Given the description of an element on the screen output the (x, y) to click on. 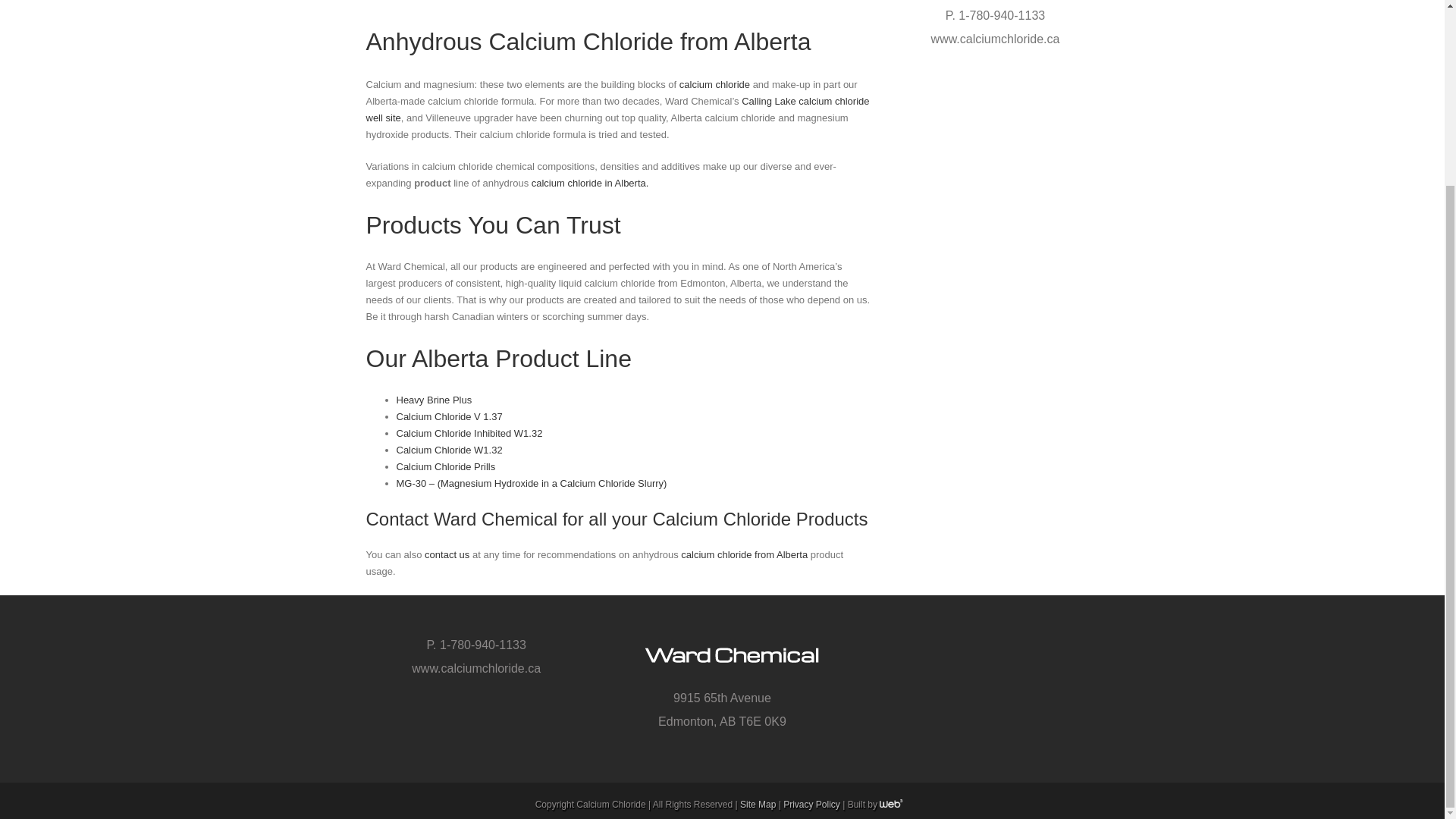
Calcium Chloride Inhibited W1.32 (468, 432)
Heavy Brine Plus (433, 399)
Calcium Chloride Inhibited W1.32 (449, 449)
Calcium Chloride Prills (445, 466)
Magnesium Hydroxide MG-30 (531, 482)
Contact (446, 554)
Anhydrous Calcium Chloride V 1.37 (449, 416)
